Given the description of an element on the screen output the (x, y) to click on. 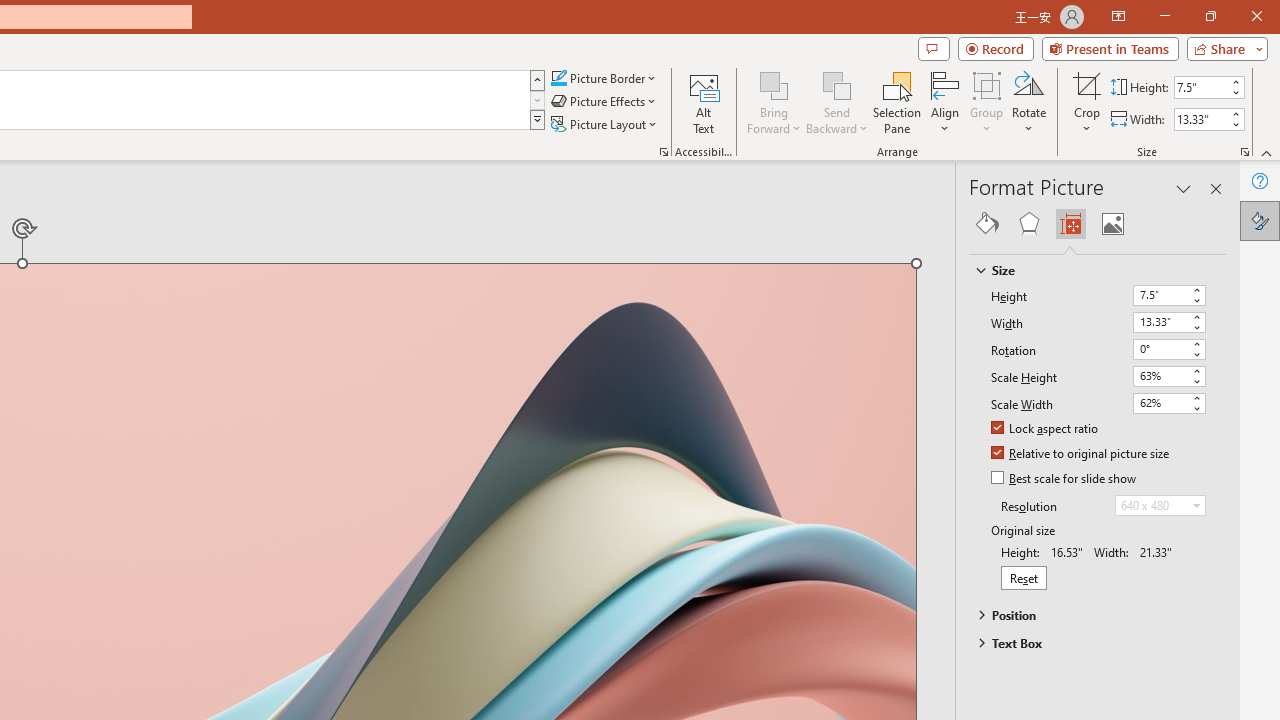
Picture Border Blue, Accent 1 (558, 78)
Selection Pane... (897, 102)
Resolution (1159, 505)
Class: NetUIGalleryContainer (1098, 223)
Bring Forward (773, 102)
Width (1168, 321)
Group (987, 102)
Shape Width (1201, 119)
